Given the description of an element on the screen output the (x, y) to click on. 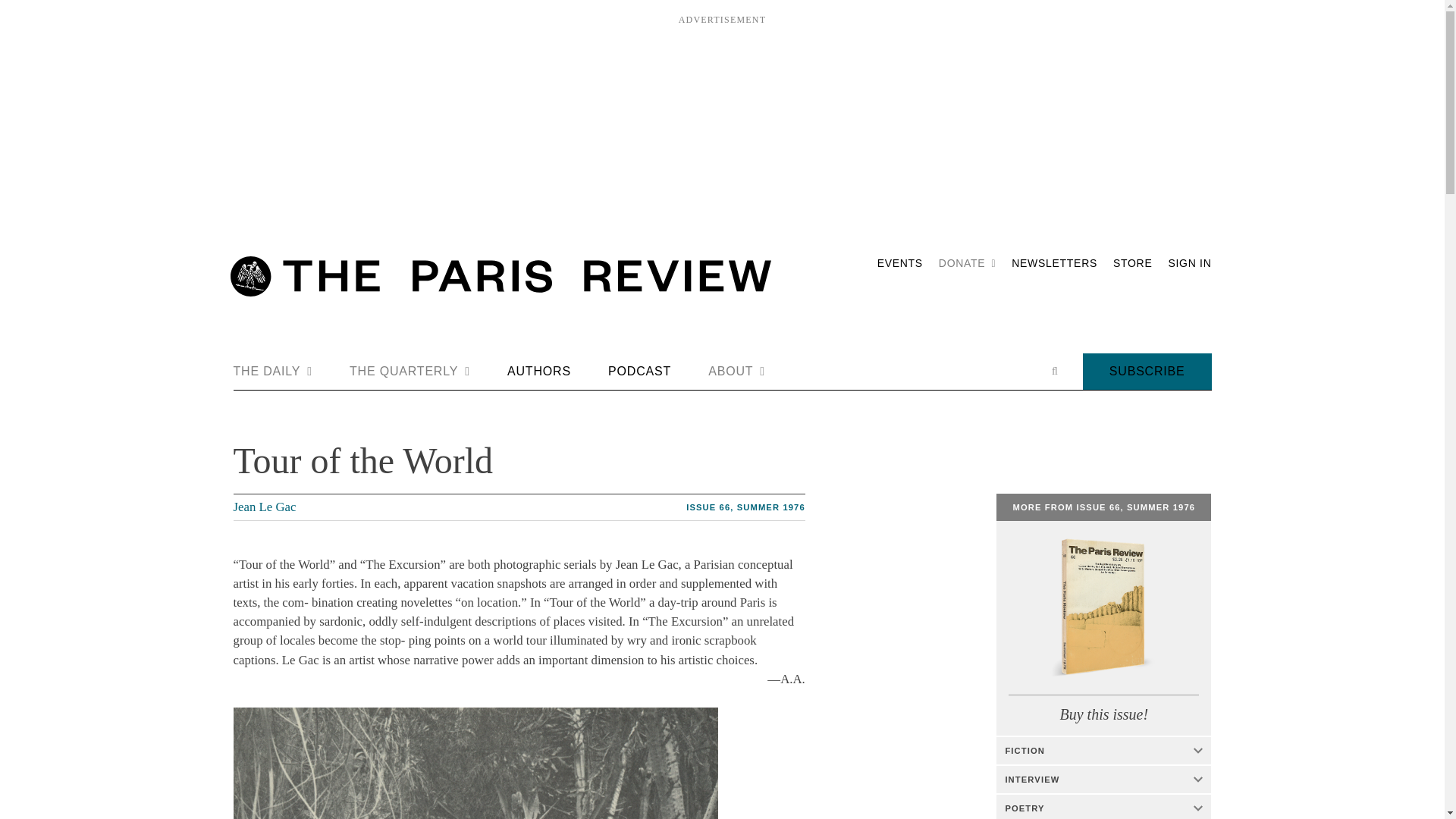
THE QUARTERLY (409, 371)
THE DAILY (272, 371)
Open search (1054, 371)
